Given the description of an element on the screen output the (x, y) to click on. 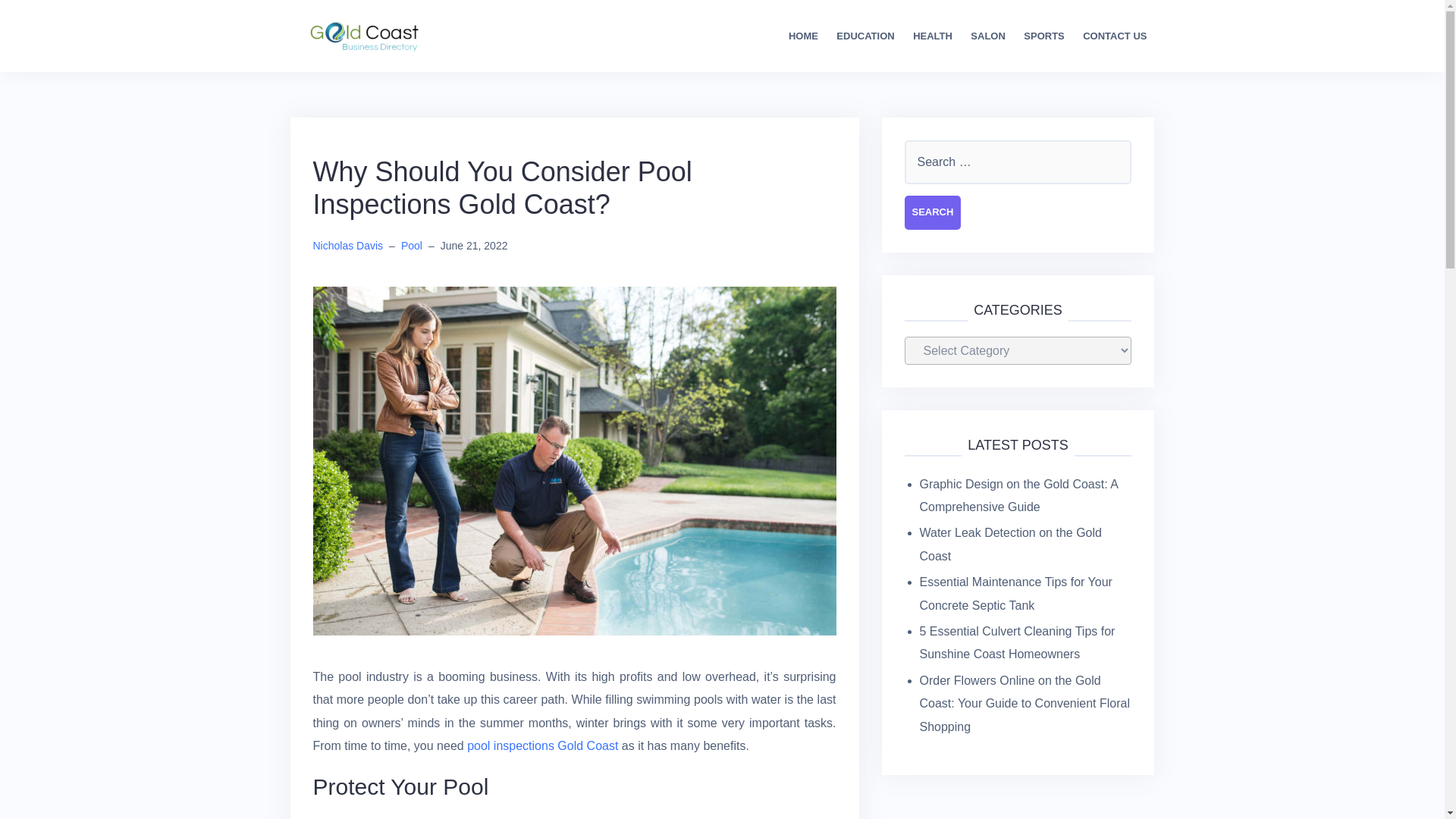
Water Leak Detection on the Gold Coast (1009, 543)
Search (932, 212)
Nicholas Davis (347, 245)
Search (932, 212)
EDUCATION (864, 36)
Graphic Design on the Gold Coast: A Comprehensive Guide (1017, 495)
Pool (411, 245)
Essential Maintenance Tips for Your Concrete Septic Tank (1015, 592)
Search (932, 212)
Why Should You Consider Pool Inspections Gold Coast? (574, 459)
SALON (988, 36)
pool inspections Gold Coast (542, 745)
HOME (803, 36)
